Given the description of an element on the screen output the (x, y) to click on. 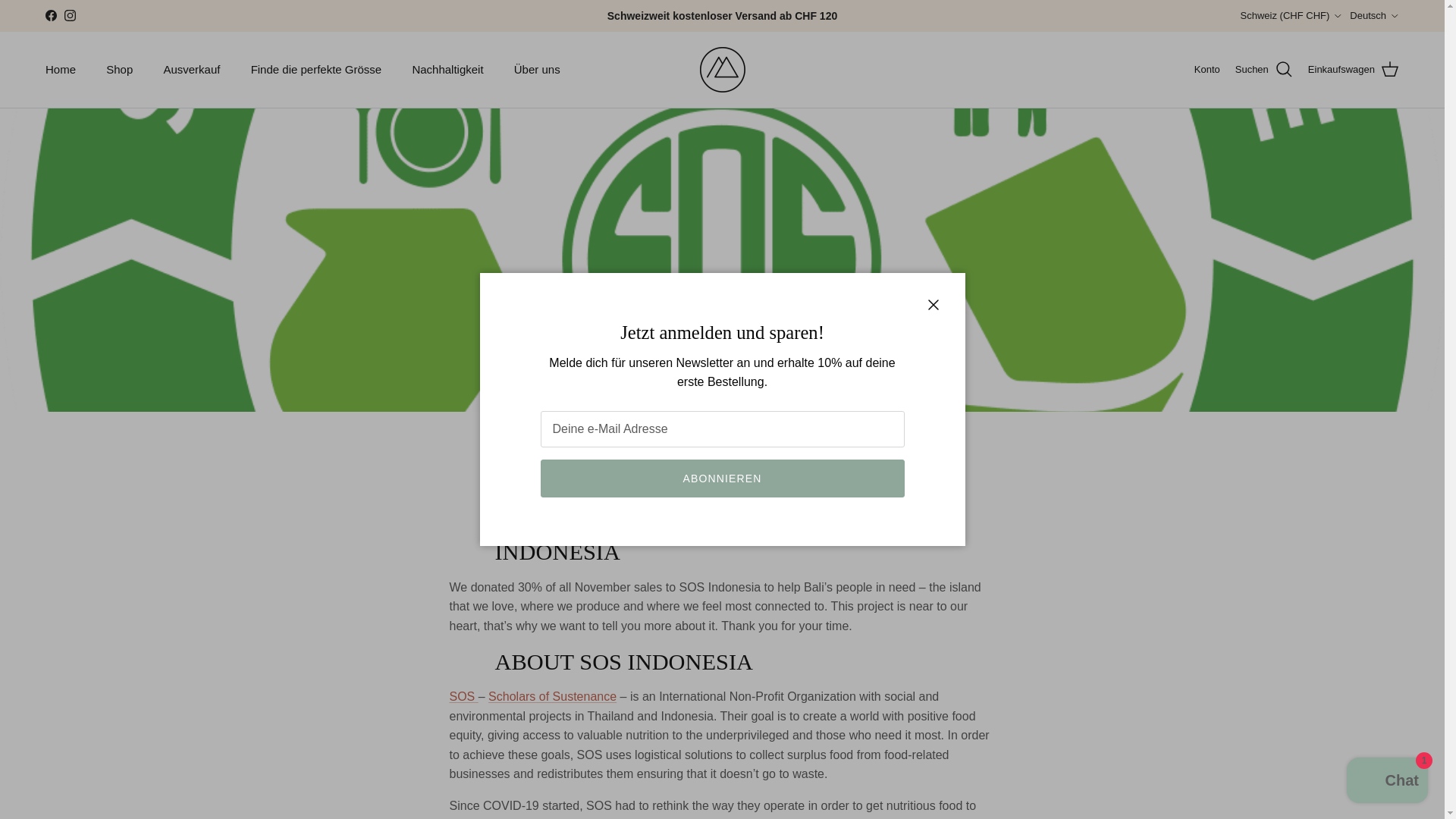
Main Design auf Facebook (50, 15)
Onlineshop-Chat von Shopify (1387, 781)
Einkaufswagen (1353, 69)
Konto (1206, 69)
Facebook (50, 15)
Ausverkauf (190, 70)
Home (60, 70)
Instagram (69, 15)
Main Design (721, 69)
Nachhaltigkeit (446, 70)
Suchen (1263, 69)
Main Design auf Instagram (69, 15)
Shop (120, 70)
Deutsch (1374, 15)
